Given the description of an element on the screen output the (x, y) to click on. 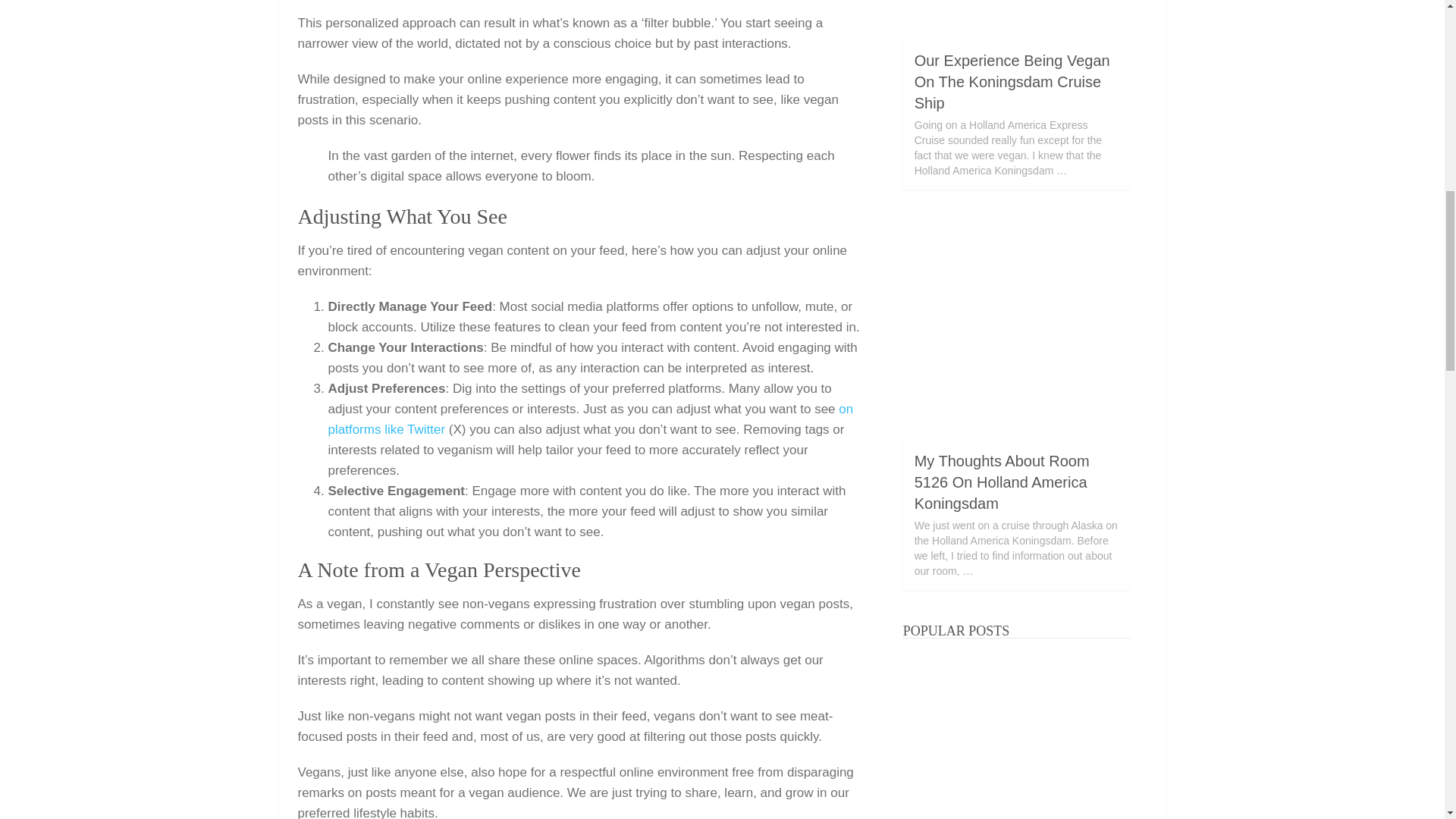
Our Experience Being Vegan On The Koningsdam Cruise Ship (1011, 81)
Our Experience Being Vegan On The Koningsdam Cruise Ship (1016, 19)
My Thoughts About Room 5126 On Holland America Koningsdam (1016, 325)
